Given the description of an element on the screen output the (x, y) to click on. 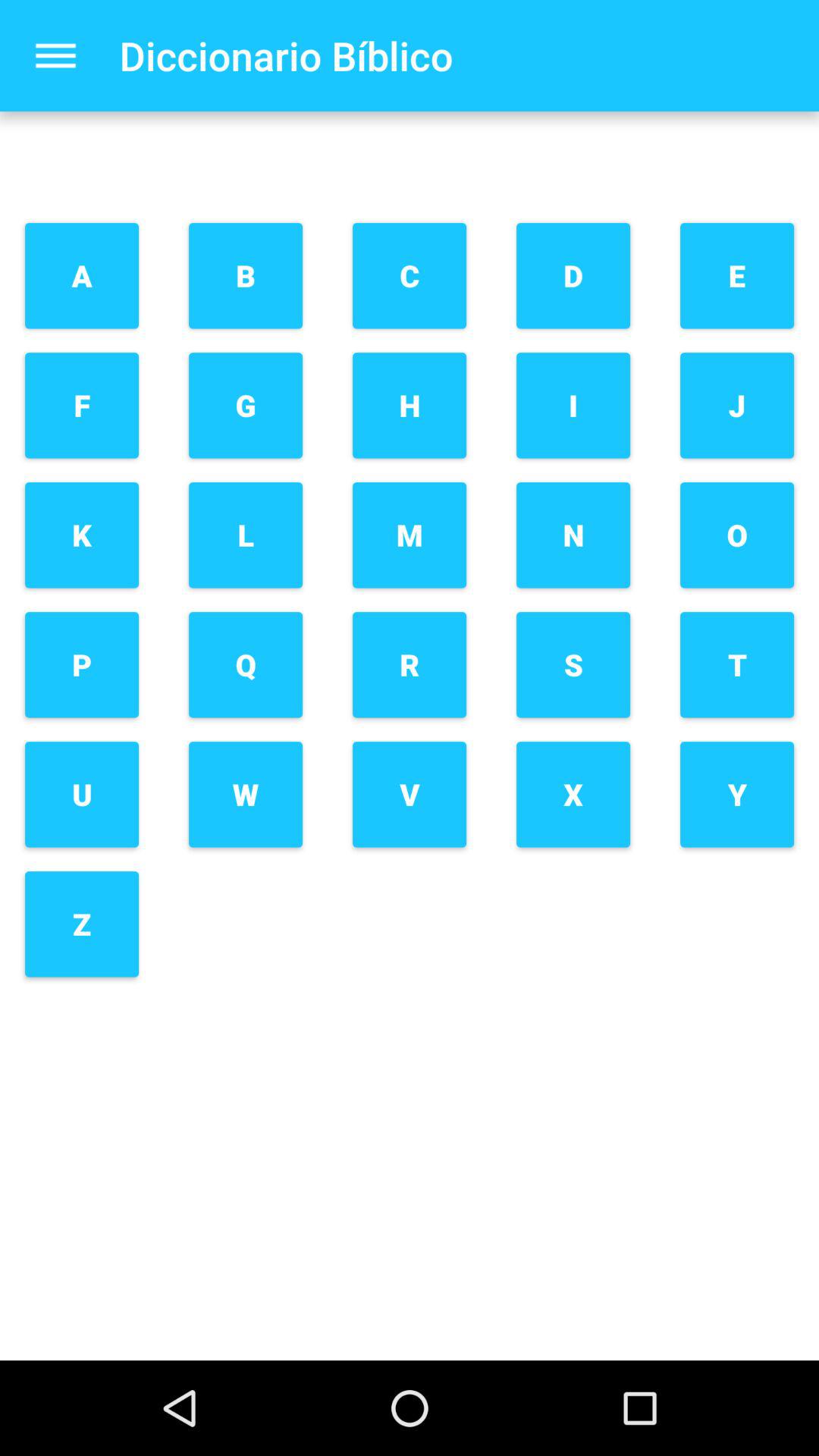
turn off the a (81, 275)
